Given the description of an element on the screen output the (x, y) to click on. 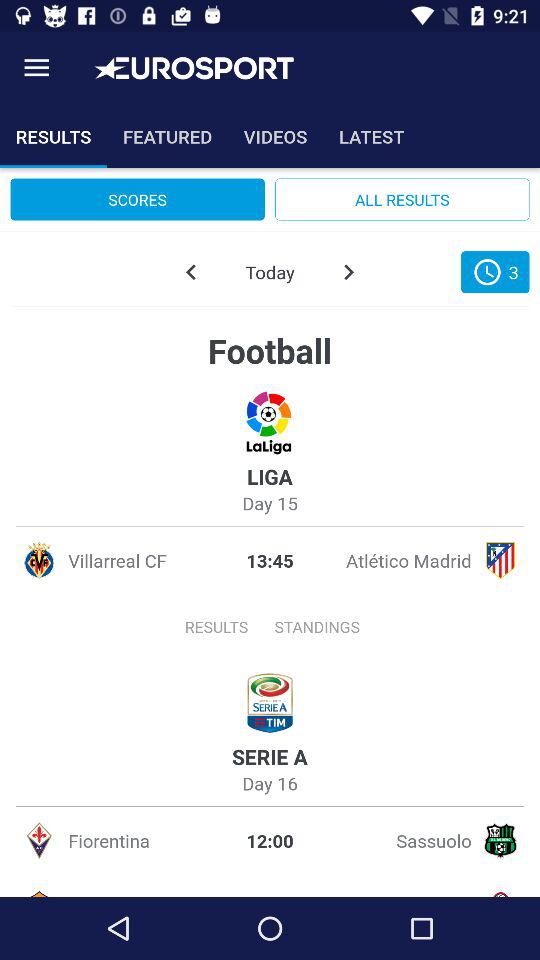
turn on item to the left of the all results (137, 199)
